Given the description of an element on the screen output the (x, y) to click on. 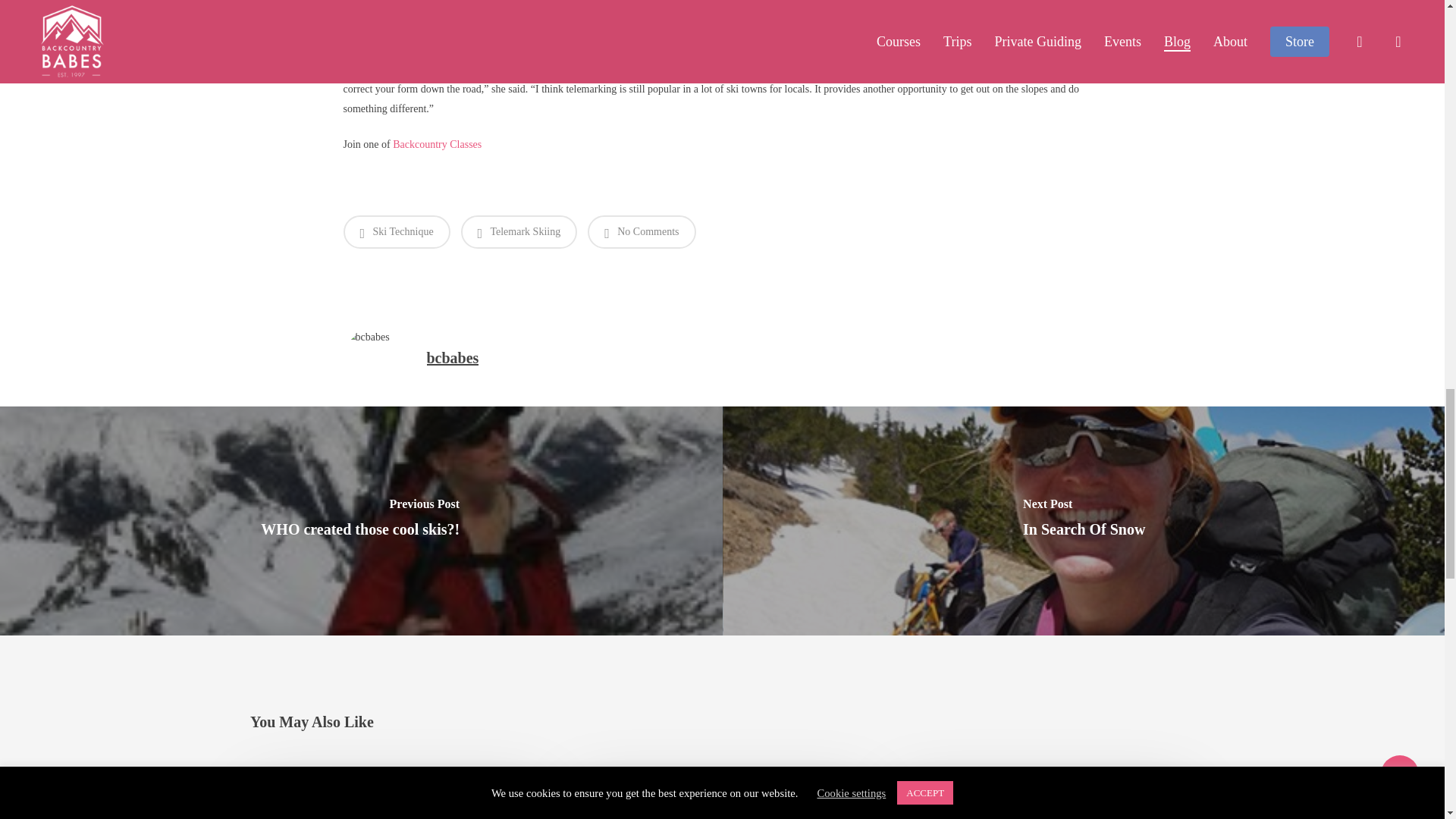
Backcountry Babes Ski Clinics (437, 143)
